Given the description of an element on the screen output the (x, y) to click on. 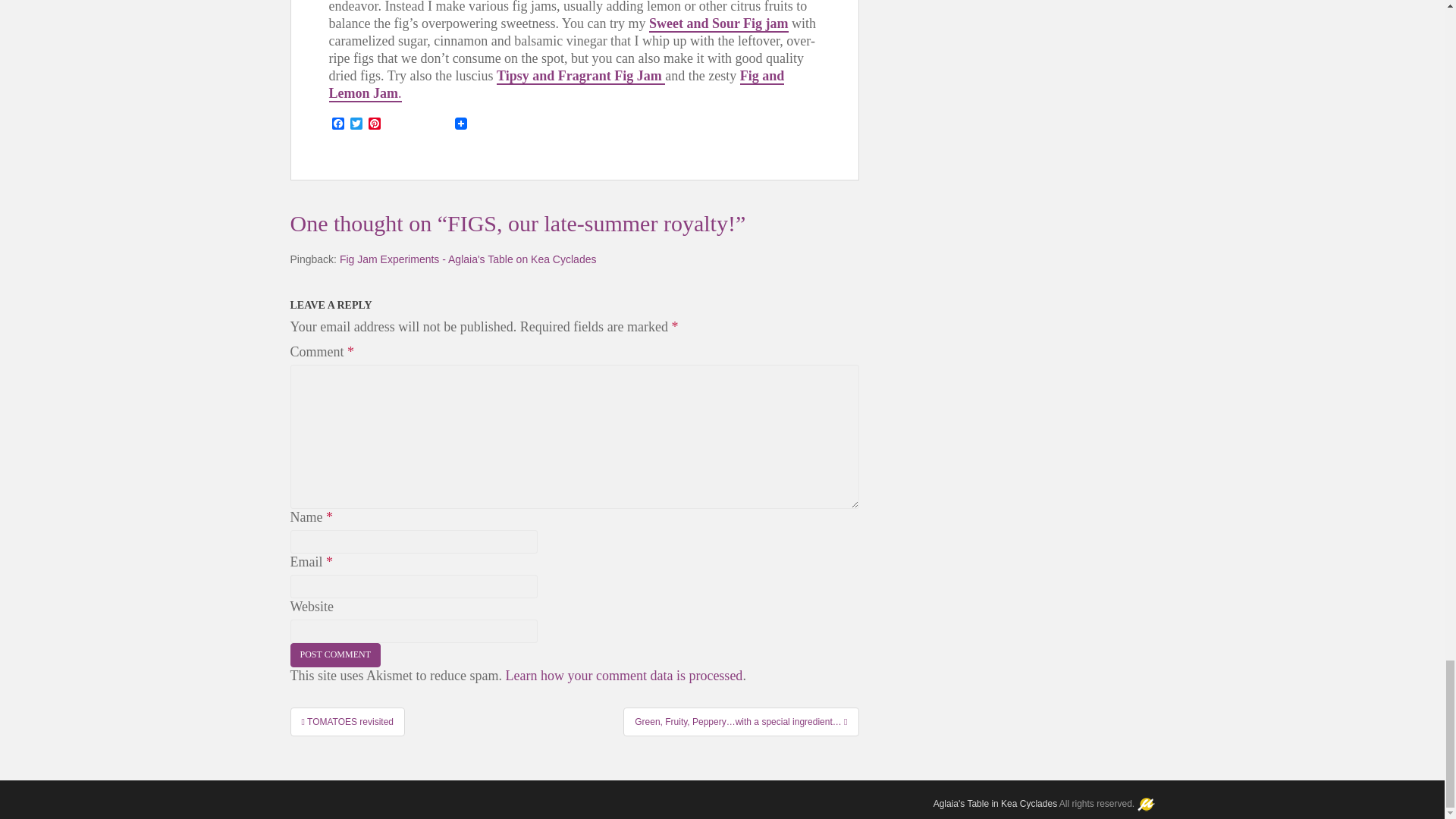
Pinterest (374, 124)
Facebook (338, 124)
Post Comment (334, 654)
Twitter (356, 124)
Aglaia's Table in Kea Cyclades (995, 803)
